Given the description of an element on the screen output the (x, y) to click on. 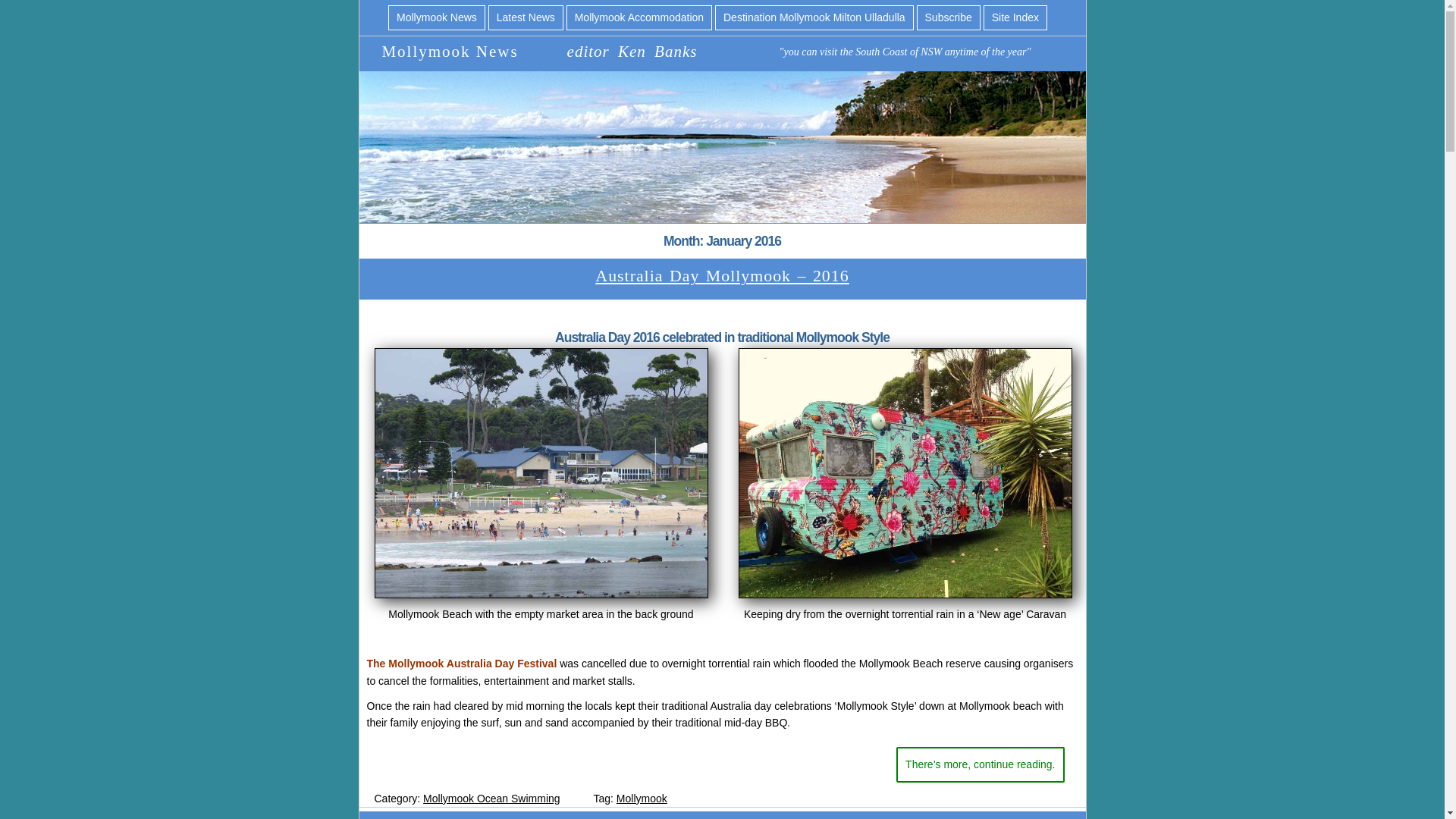
New age Camping (904, 473)
Destination Mollymook Milton Ulladulla (814, 17)
Mollymook News (436, 17)
Site Index (1015, 17)
Mollymook Beach (540, 473)
Latest News (525, 17)
Mollymook Ocean Swimming (491, 798)
Mollymook Accommodation (638, 17)
